Given the description of an element on the screen output the (x, y) to click on. 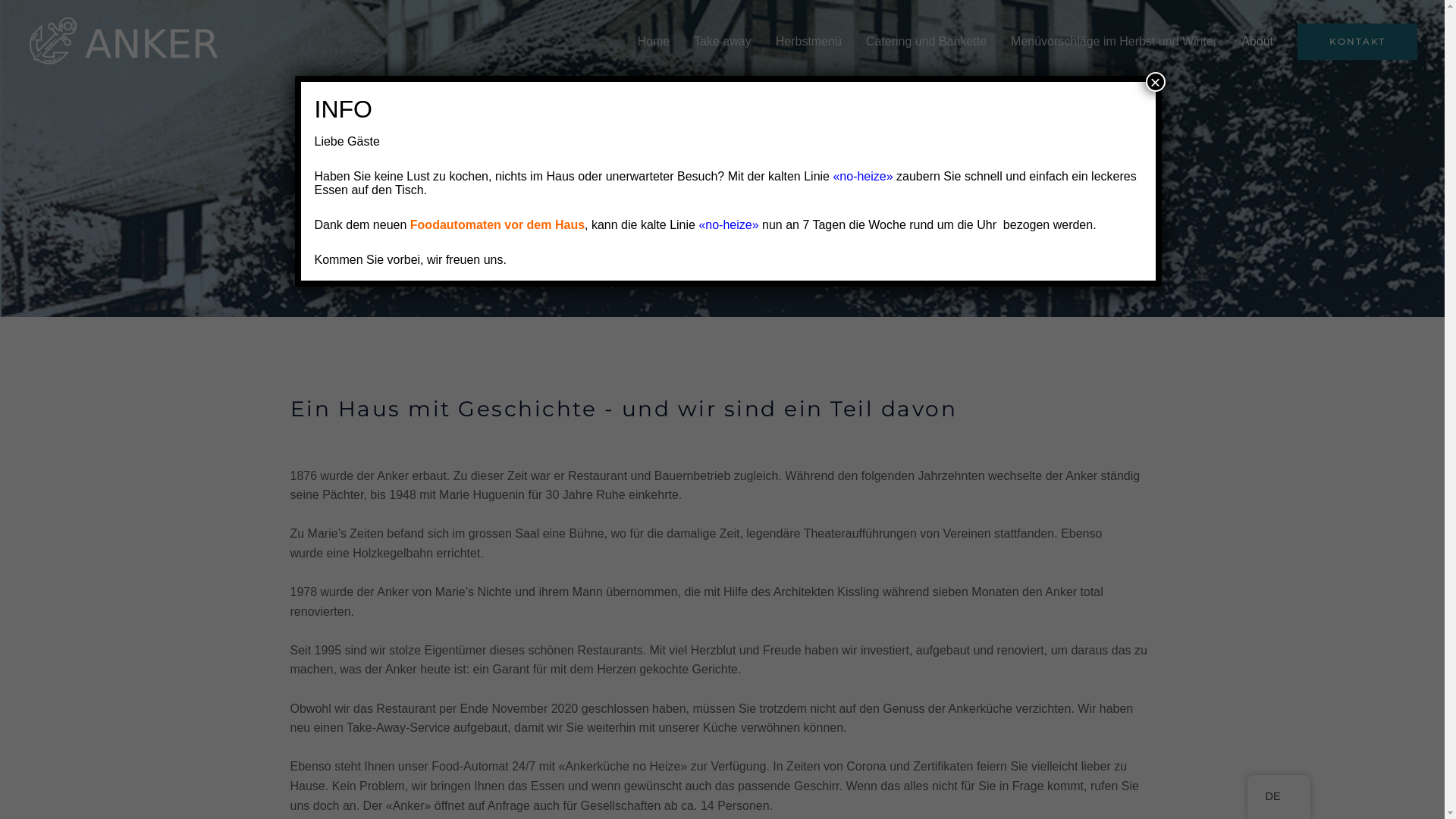
About Element type: text (1257, 40)
Take away Element type: text (722, 40)
DE Element type: text (1273, 796)
Home Element type: text (652, 40)
KONTAKT Element type: text (1357, 40)
Catering und Bankette Element type: text (925, 40)
